Given the description of an element on the screen output the (x, y) to click on. 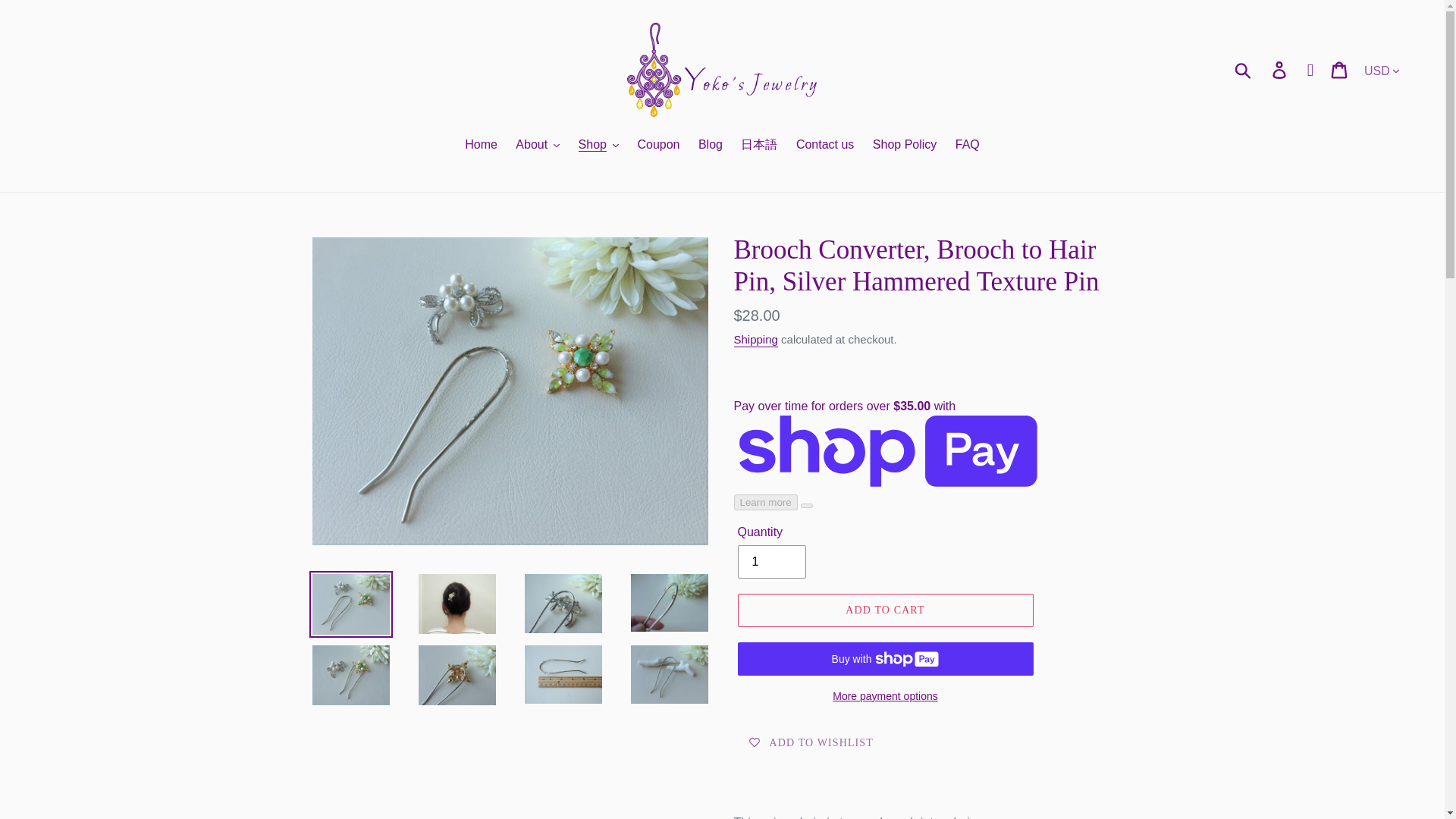
1 (770, 561)
Cart (1340, 69)
Log in (1280, 69)
Submit (1243, 69)
